Given the description of an element on the screen output the (x, y) to click on. 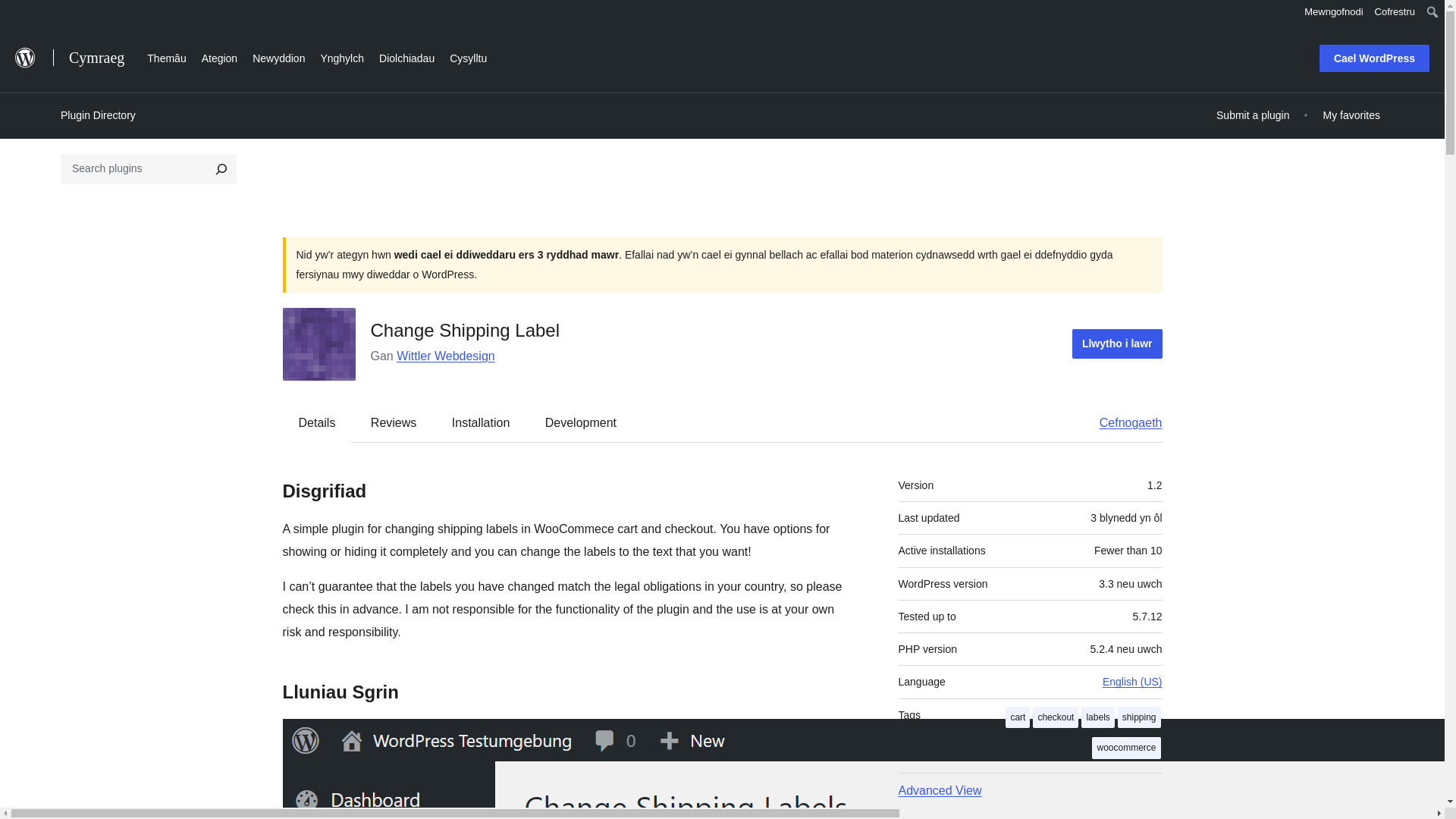
Development (580, 422)
Ynghylch (342, 56)
Submit a plugin (1253, 115)
Mewngofnodi (1333, 12)
Llwytho i lawr (1116, 344)
Chwilio (17, 13)
Cofrestru (1395, 12)
Cael WordPress (1374, 58)
Newyddion (278, 56)
My favorites (1351, 115)
Wittler Webdesign (445, 355)
Details (316, 422)
Diolchiadau (406, 56)
Cefnogaeth (1122, 422)
Installation (480, 422)
